Given the description of an element on the screen output the (x, y) to click on. 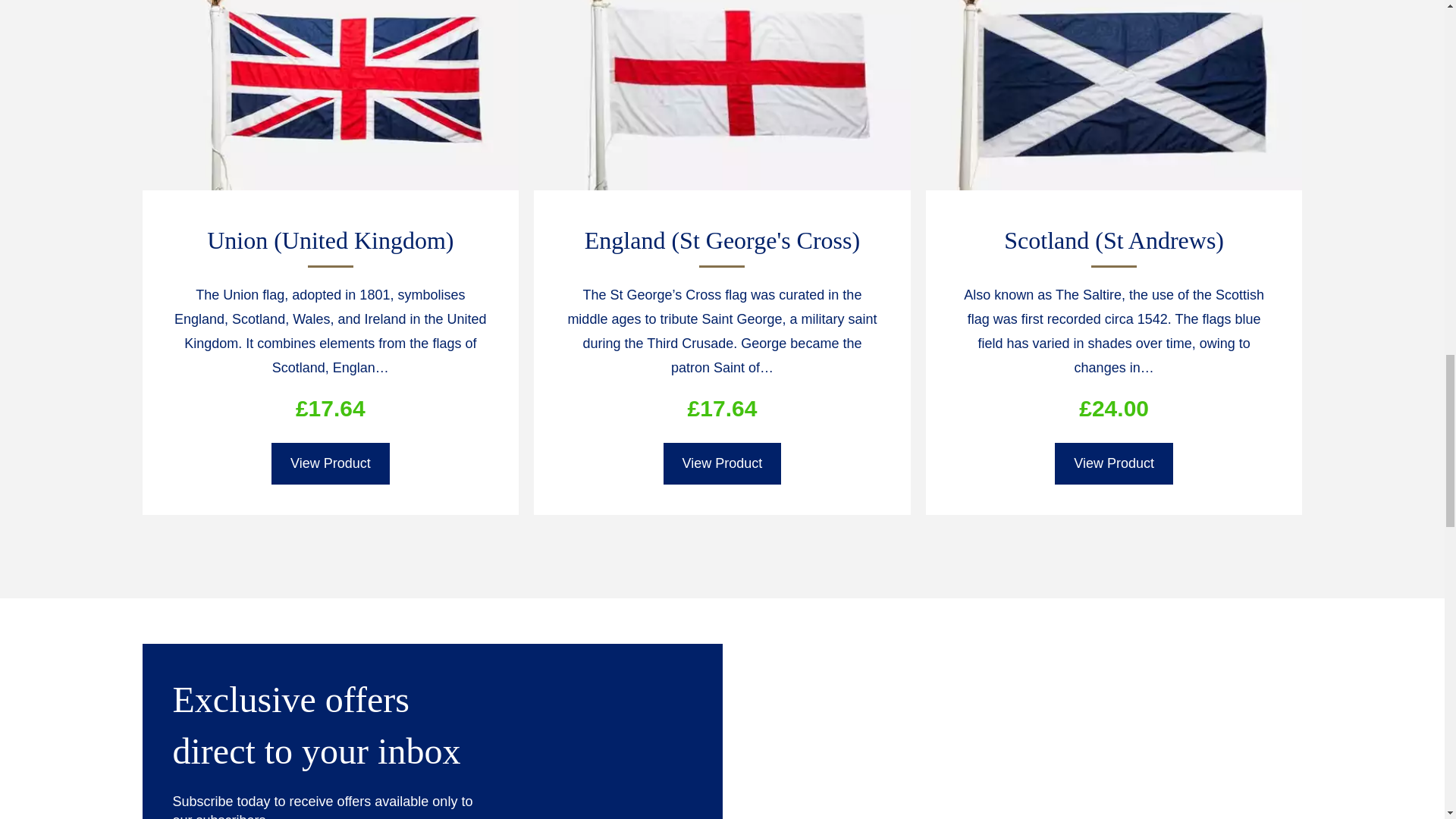
View Product (1113, 463)
View Product (722, 463)
View Product (330, 463)
